Given the description of an element on the screen output the (x, y) to click on. 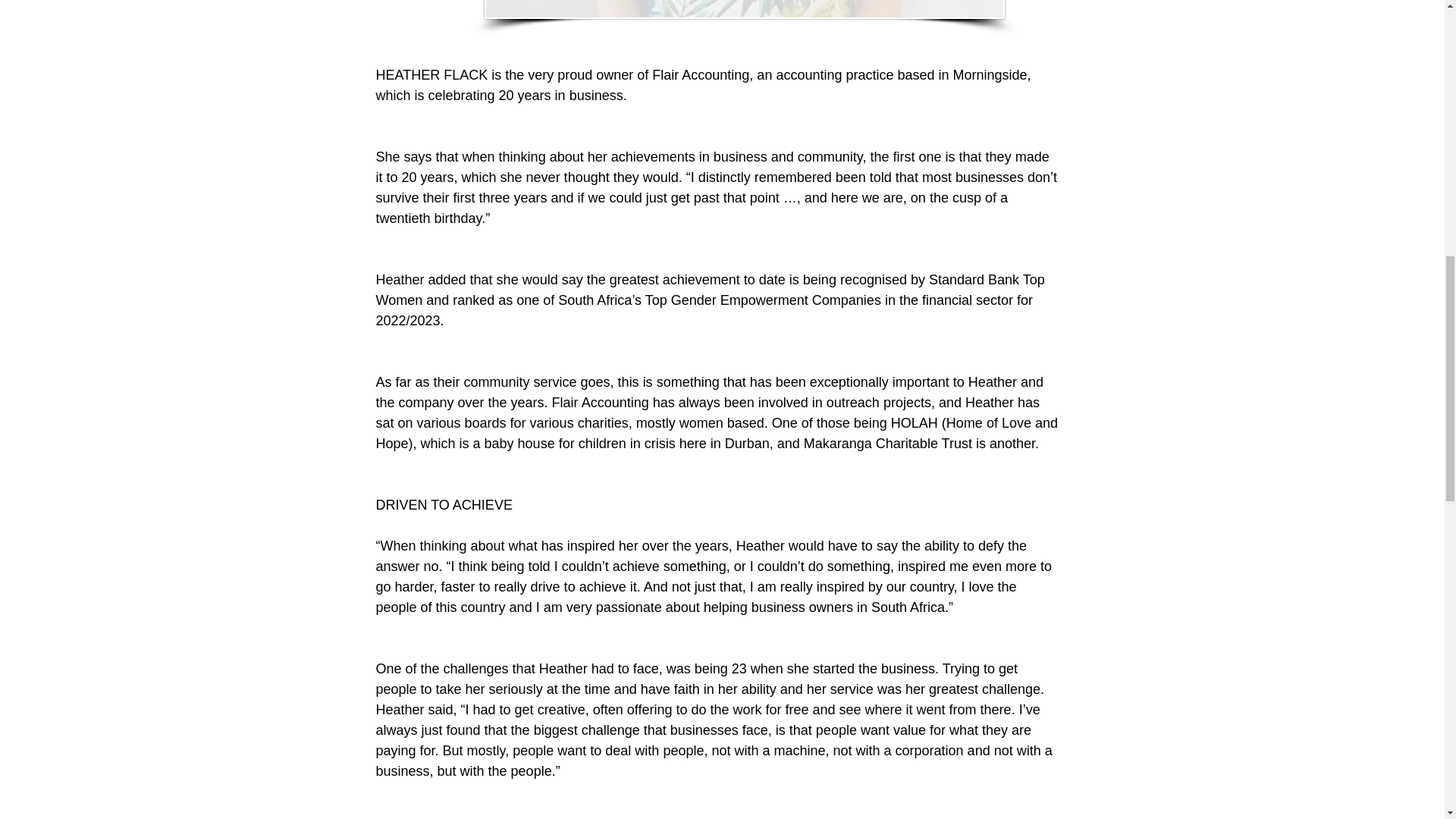
Heather Flack.jpg (743, 9)
